Given the description of an element on the screen output the (x, y) to click on. 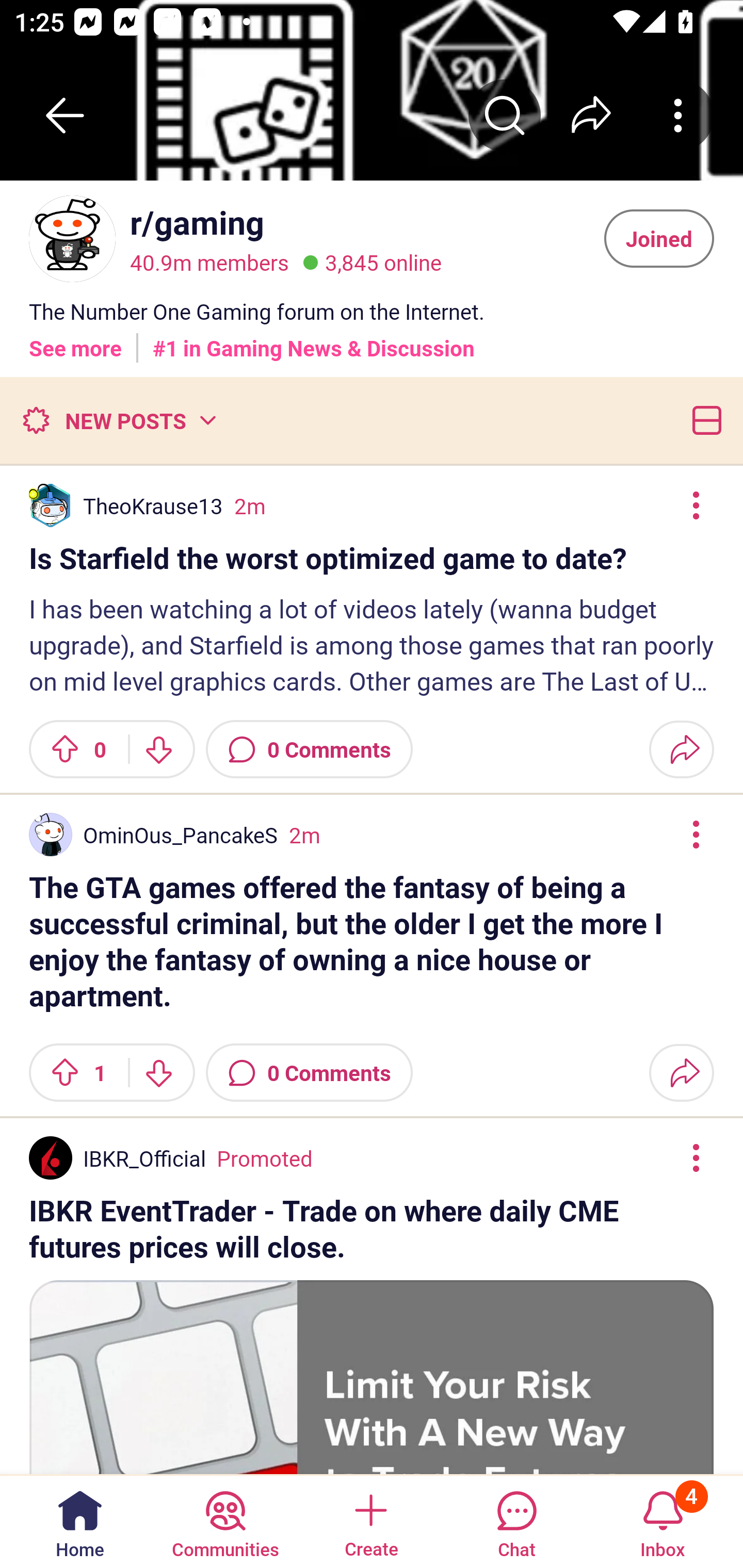
Back (64, 115)
Search r/﻿gaming (504, 115)
Share r/﻿gaming (591, 115)
More community actions (677, 115)
New posts NEW POSTS (118, 420)
Card (703, 420)
Home (80, 1520)
Communities (225, 1520)
Create a post Create (370, 1520)
Chat (516, 1520)
Inbox, has 4 notifications 4 Inbox (662, 1520)
